Given the description of an element on the screen output the (x, y) to click on. 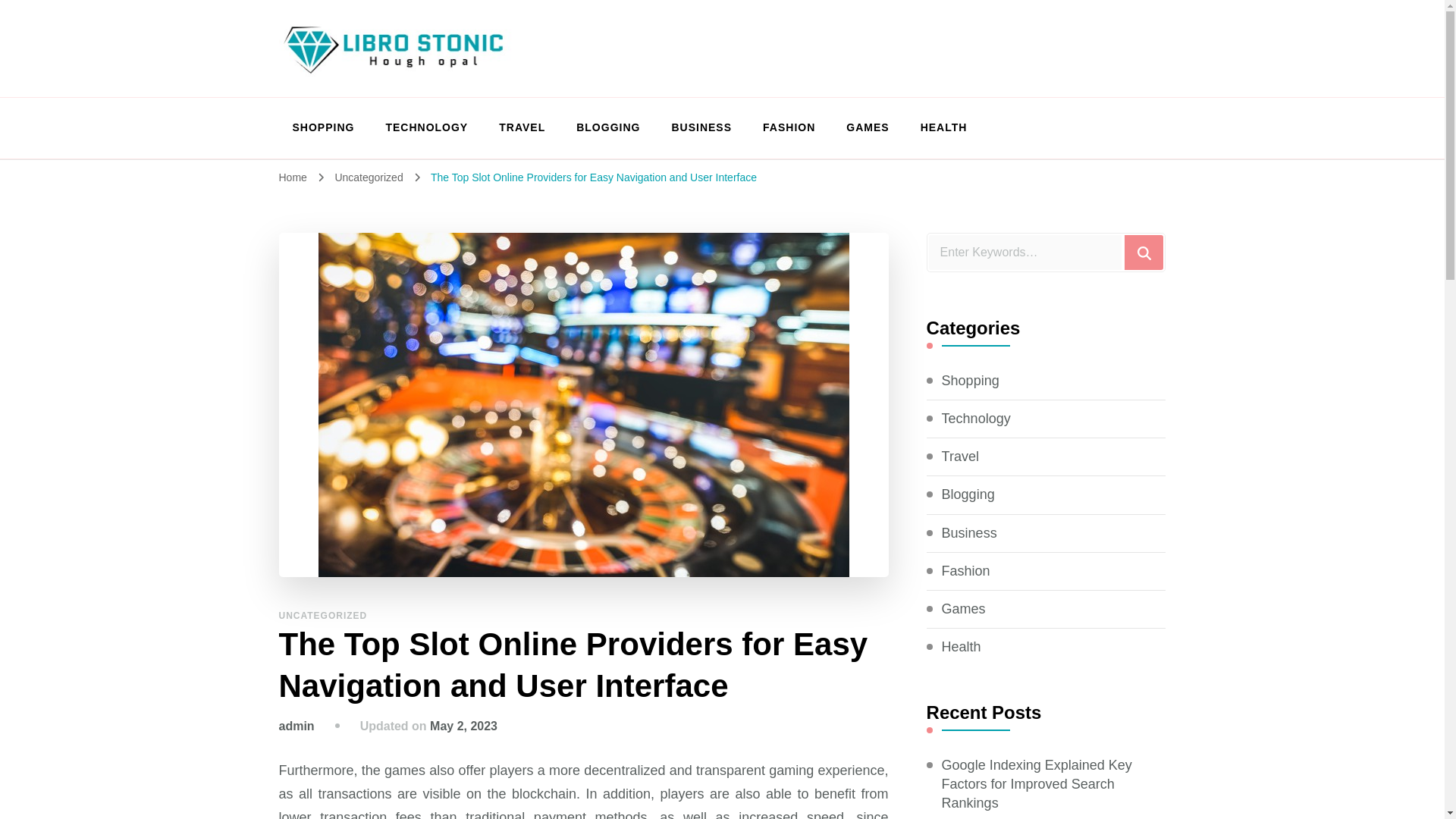
UNCATEGORIZED (323, 615)
Uncategorized (370, 177)
Home (293, 177)
Search (1143, 252)
Libro Stonic (370, 94)
admin (296, 725)
TRAVEL (521, 127)
BLOGGING (607, 127)
BUSINESS (701, 127)
FASHION (788, 127)
SHOPPING (323, 127)
GAMES (867, 127)
Search (1143, 252)
HEALTH (937, 127)
